Given the description of an element on the screen output the (x, y) to click on. 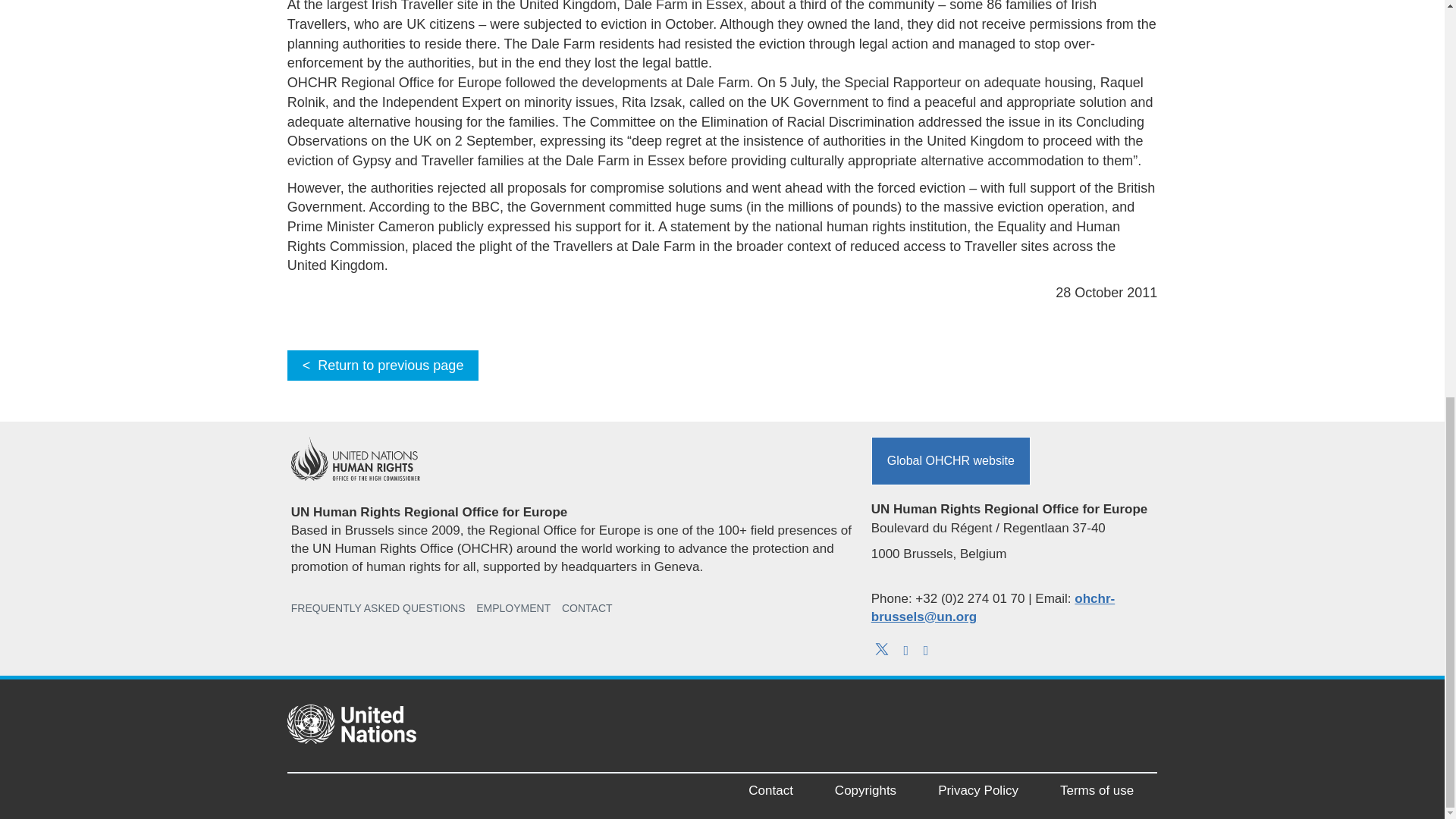
CONTACT (587, 608)
FREQUENTLY ASKED QUESTIONS (378, 608)
Global OHCHR website (950, 461)
EMPLOYMENT (513, 608)
Return to previous page (382, 365)
